Given the description of an element on the screen output the (x, y) to click on. 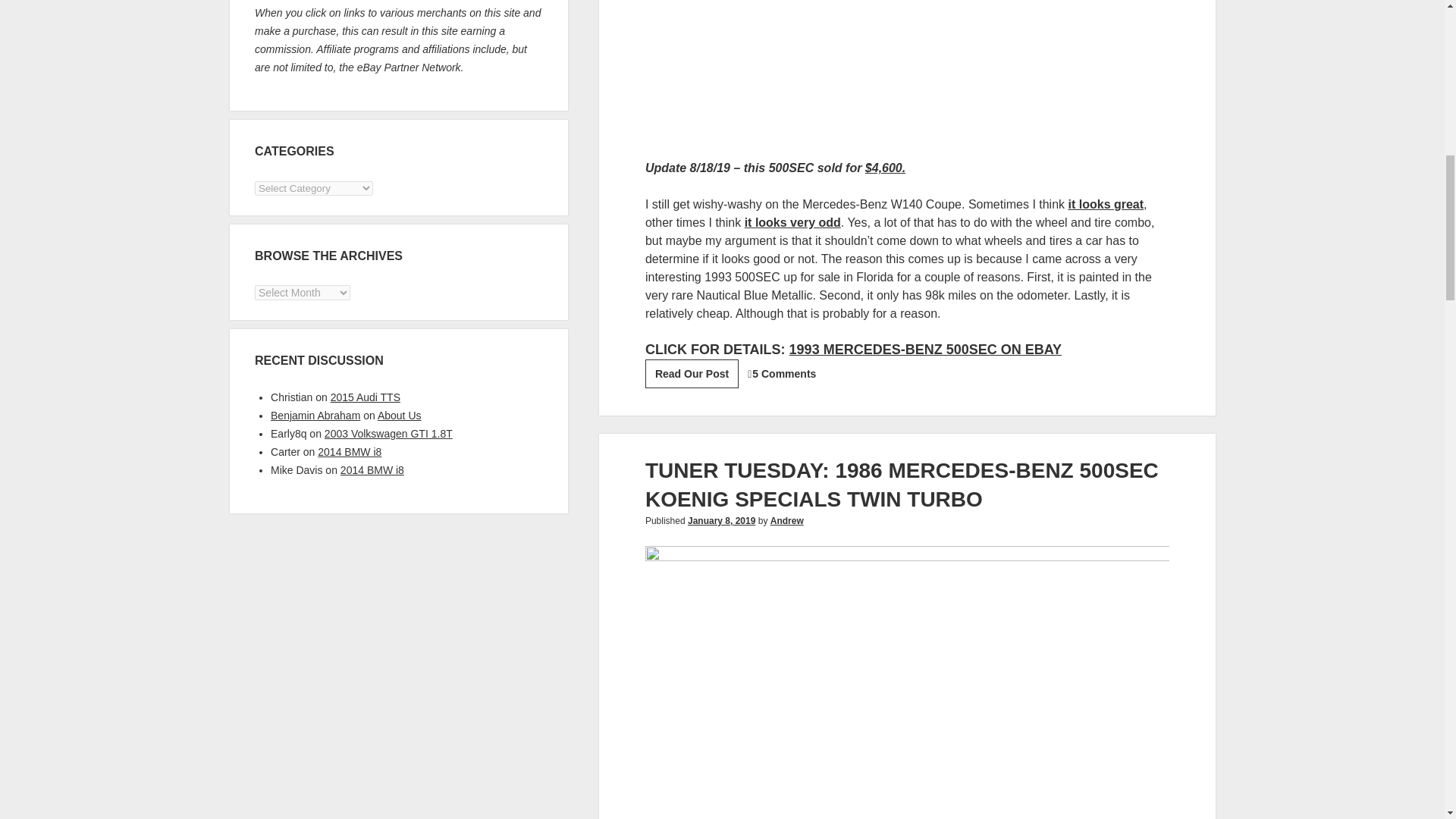
it looks very odd (792, 222)
5 Comments (783, 373)
Andrew (786, 520)
it looks great (1106, 204)
January 8, 2019 (721, 520)
1993 MERCEDES-BENZ 500SEC ON EBAY (691, 373)
